Given the description of an element on the screen output the (x, y) to click on. 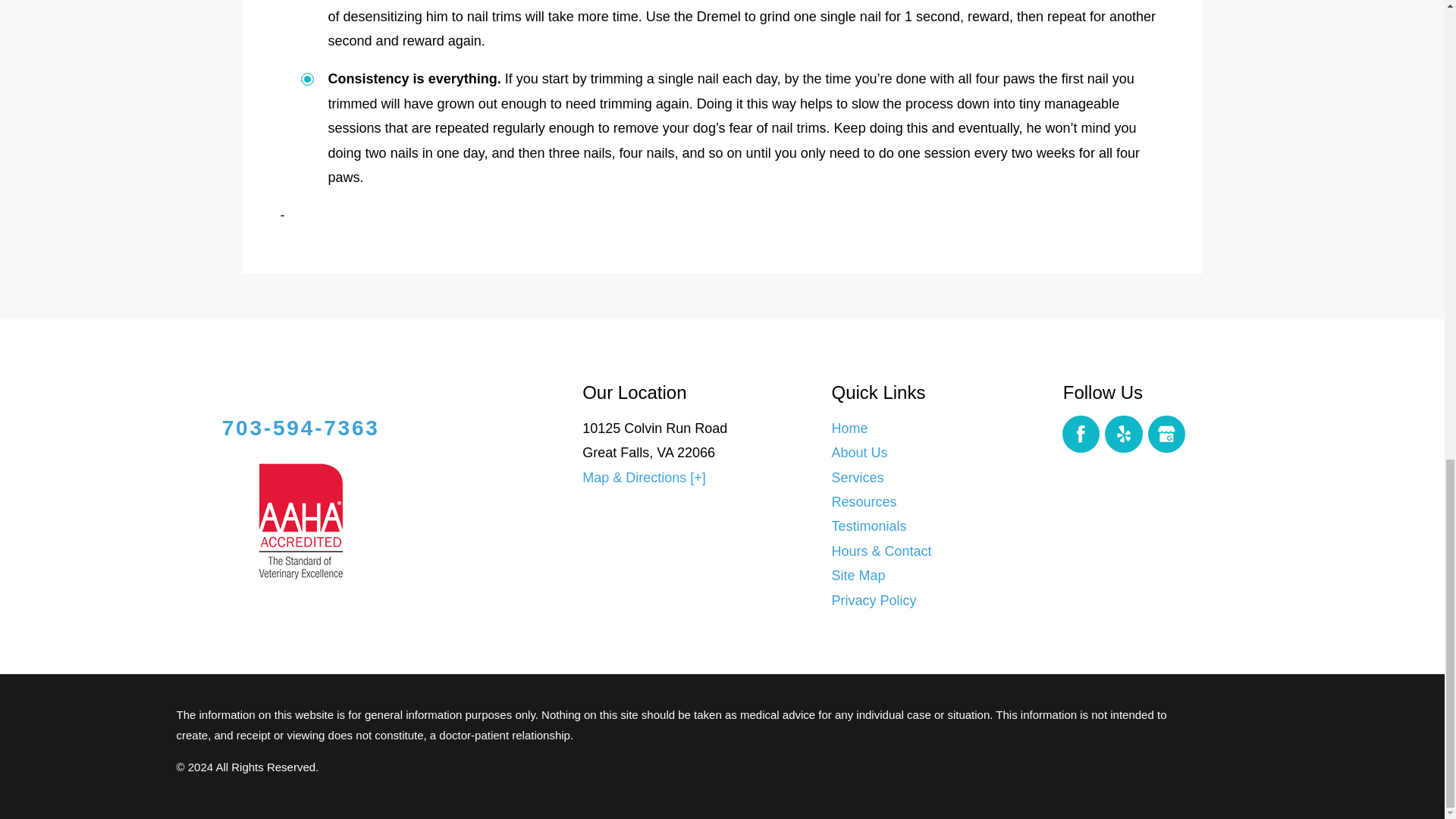
Facebook (1081, 434)
Yelp (1123, 434)
Google Business Profile (1167, 434)
